Given the description of an element on the screen output the (x, y) to click on. 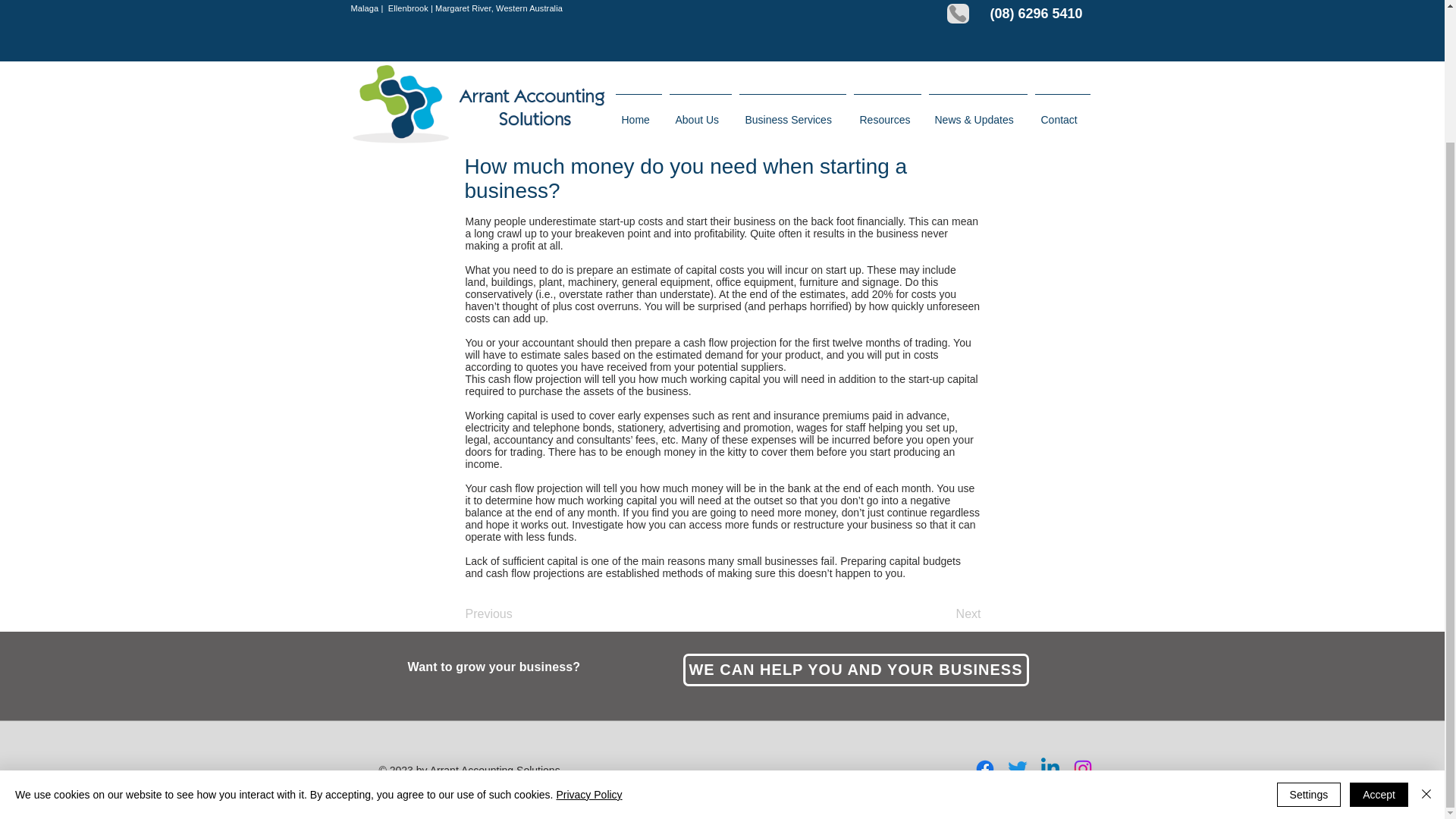
Next (943, 613)
Settings (1308, 632)
Accept (1378, 632)
WE CAN HELP YOU AND YOUR BUSINESS (854, 669)
Previous (515, 613)
Privacy Policy (588, 633)
